Given the description of an element on the screen output the (x, y) to click on. 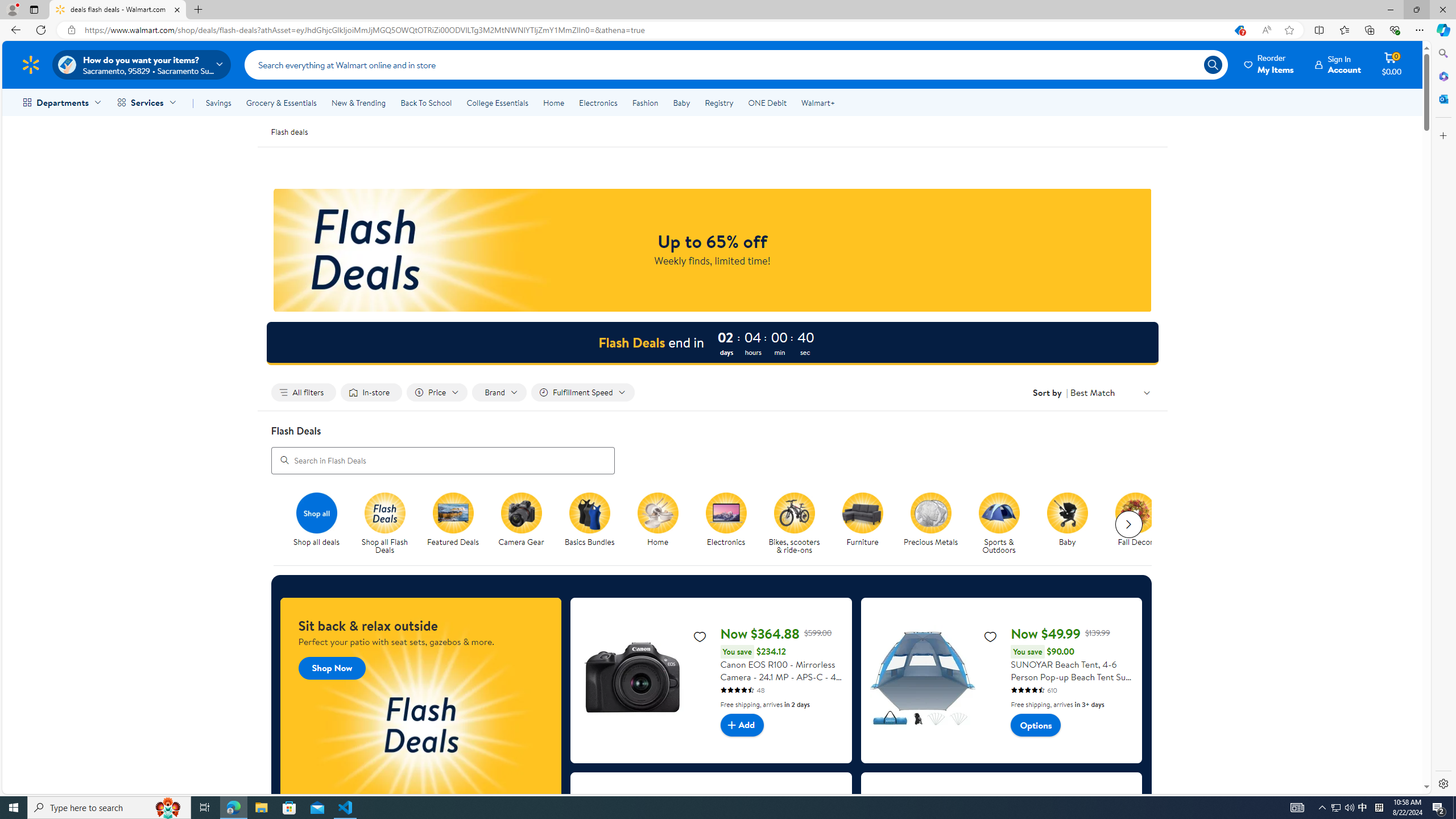
Flash deals (289, 131)
All filters none applied, activate to change (303, 392)
Basics Bundles Basics Bundles (588, 519)
Electronics (725, 512)
Camera Gear (526, 524)
Shop all deals (320, 524)
Bikes, scooters & ride-ons Bikes, scooters & ride-ons (794, 524)
Registry (718, 102)
Grocery & Essentials (280, 102)
